Given the description of an element on the screen output the (x, y) to click on. 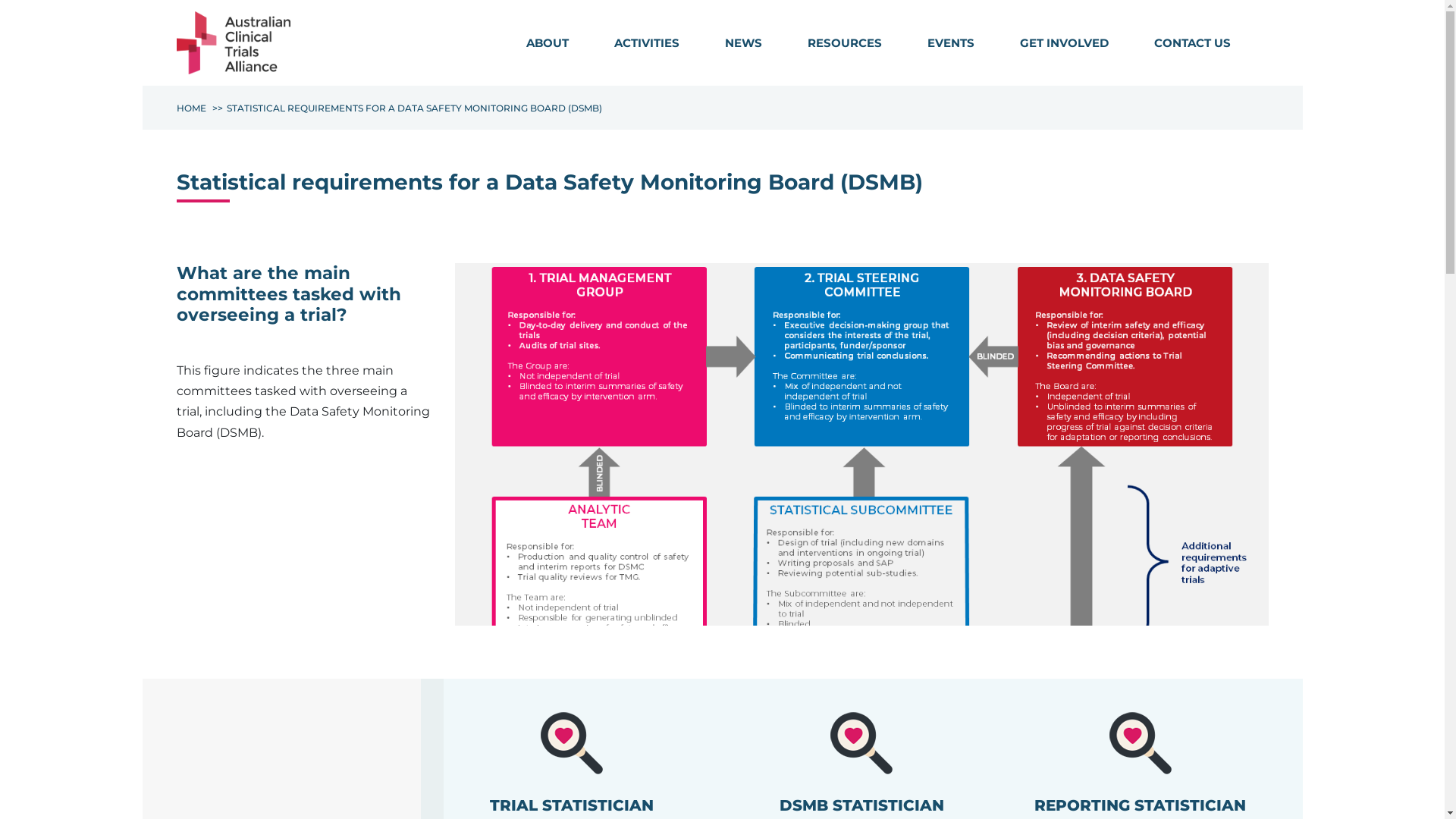
RESOURCES Element type: text (843, 43)
NEWS Element type: text (743, 43)
ABOUT Element type: text (547, 43)
HOME Element type: text (190, 107)
CONTACT US Element type: text (1192, 43)
ACTIVITIES Element type: text (646, 43)
EVENTS Element type: text (949, 43)
Search form Element type: text (1259, 45)
GET INVOLVED Element type: text (1063, 43)
